Given the description of an element on the screen output the (x, y) to click on. 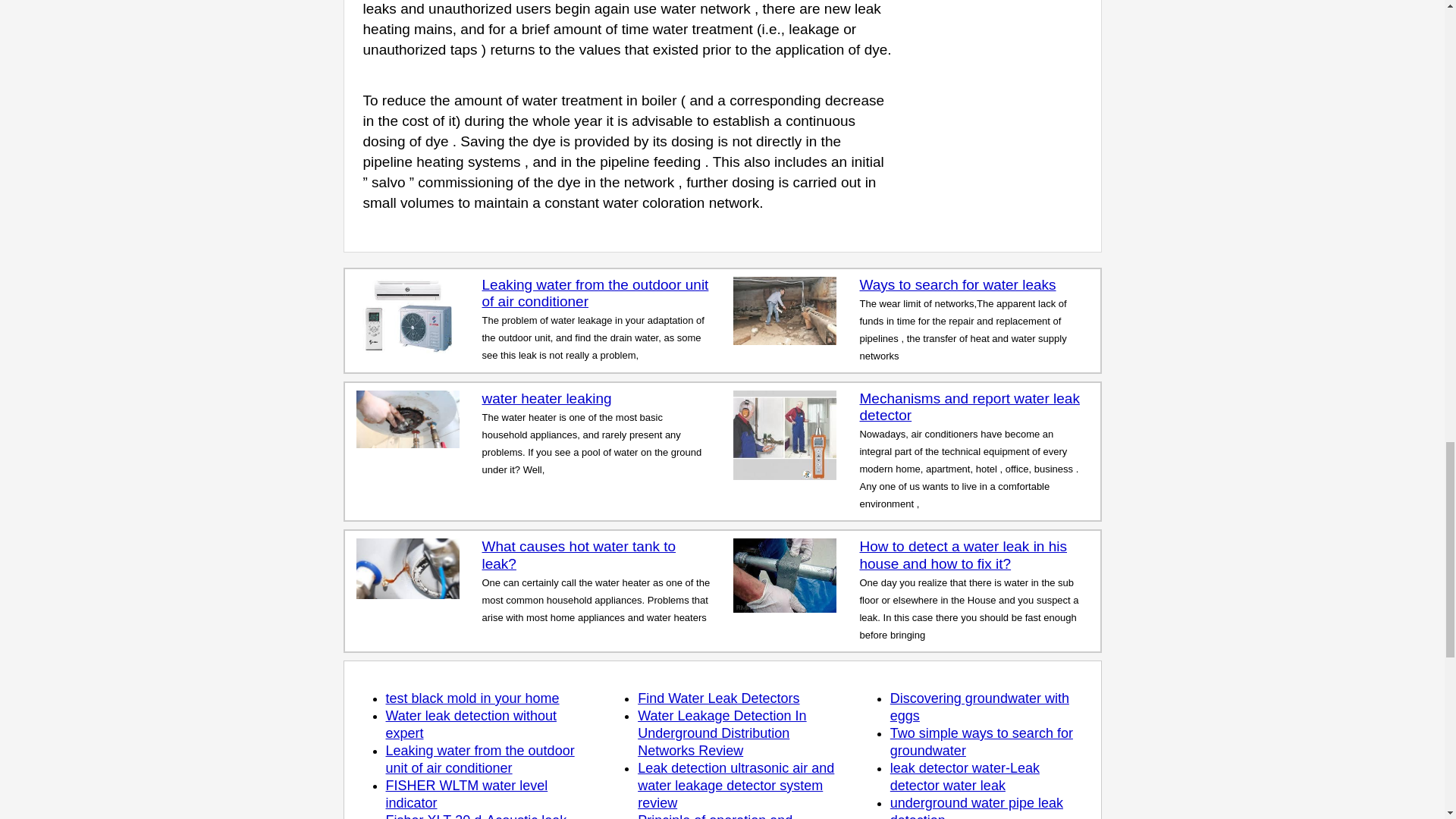
What causes hot water tank to leak? (579, 554)
Mechanisms and report water leak detector (968, 407)
FISHER WLTM water level indicator (466, 794)
Leaking water from the outdoor unit of air conditioner (595, 293)
Leaking water from the outdoor unit of air conditioner (479, 758)
Fisher XLT-30 d-Acoustic leak detection (475, 816)
water heater leaking (546, 398)
Water leak detection without expert (470, 724)
Ways to search for water leaks (957, 284)
How to detect a water leak in his house and how to fix it? (963, 554)
test black mold in your home (472, 698)
